Given the description of an element on the screen output the (x, y) to click on. 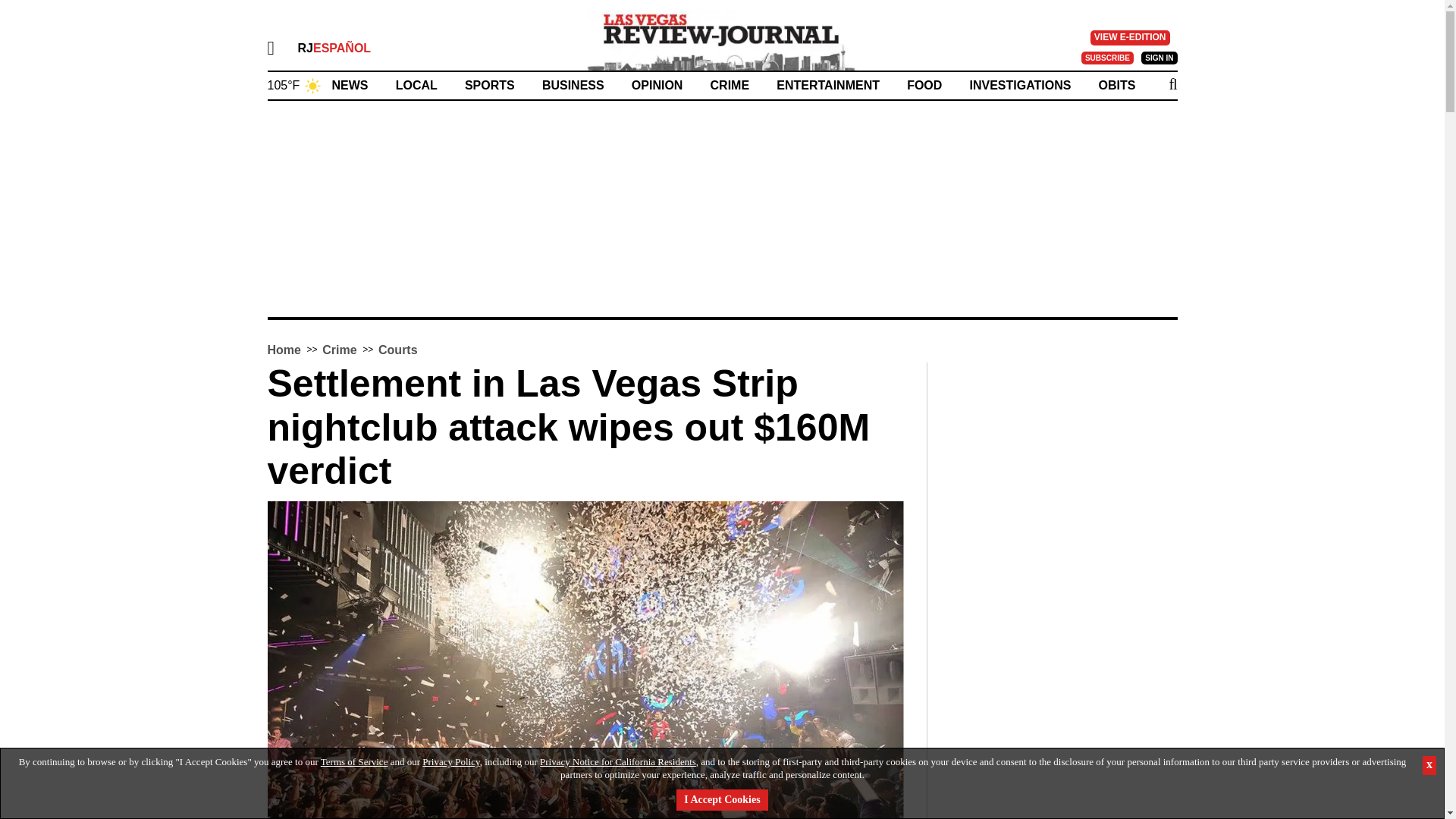
VIEW E-EDITION (1130, 37)
Las Vegas News (721, 39)
OBITS (1117, 84)
LOCAL (417, 84)
BUSINESS (572, 84)
Weather Forecast (293, 83)
OPINION (656, 84)
INVESTIGATIONS (1019, 84)
NEWS (349, 84)
SIGN IN (1158, 58)
CRIME (729, 84)
search icon (1172, 84)
FOOD (924, 84)
SPORTS (489, 84)
ENTERTAINMENT (827, 84)
